Given the description of an element on the screen output the (x, y) to click on. 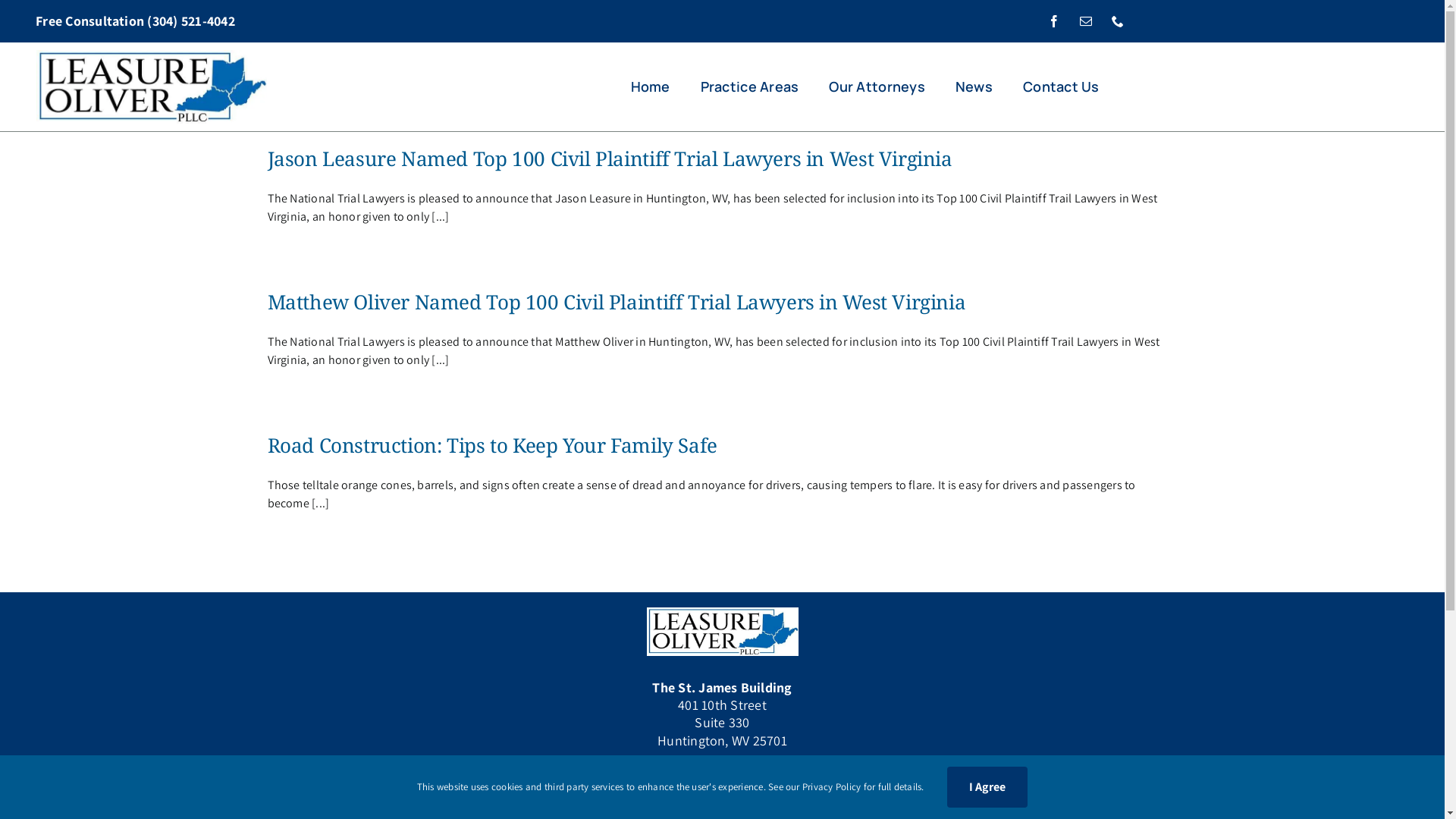
Our Attorneys Element type: text (876, 86)
Home Element type: text (650, 86)
Practice Areas Element type: text (749, 86)
I Agree Element type: text (987, 786)
Road Construction: Tips to Keep Your Family Safe Element type: text (491, 444)
Get Directions Element type: text (721, 784)
News Element type: text (973, 86)
Contact Us Element type: text (1061, 86)
